Given the description of an element on the screen output the (x, y) to click on. 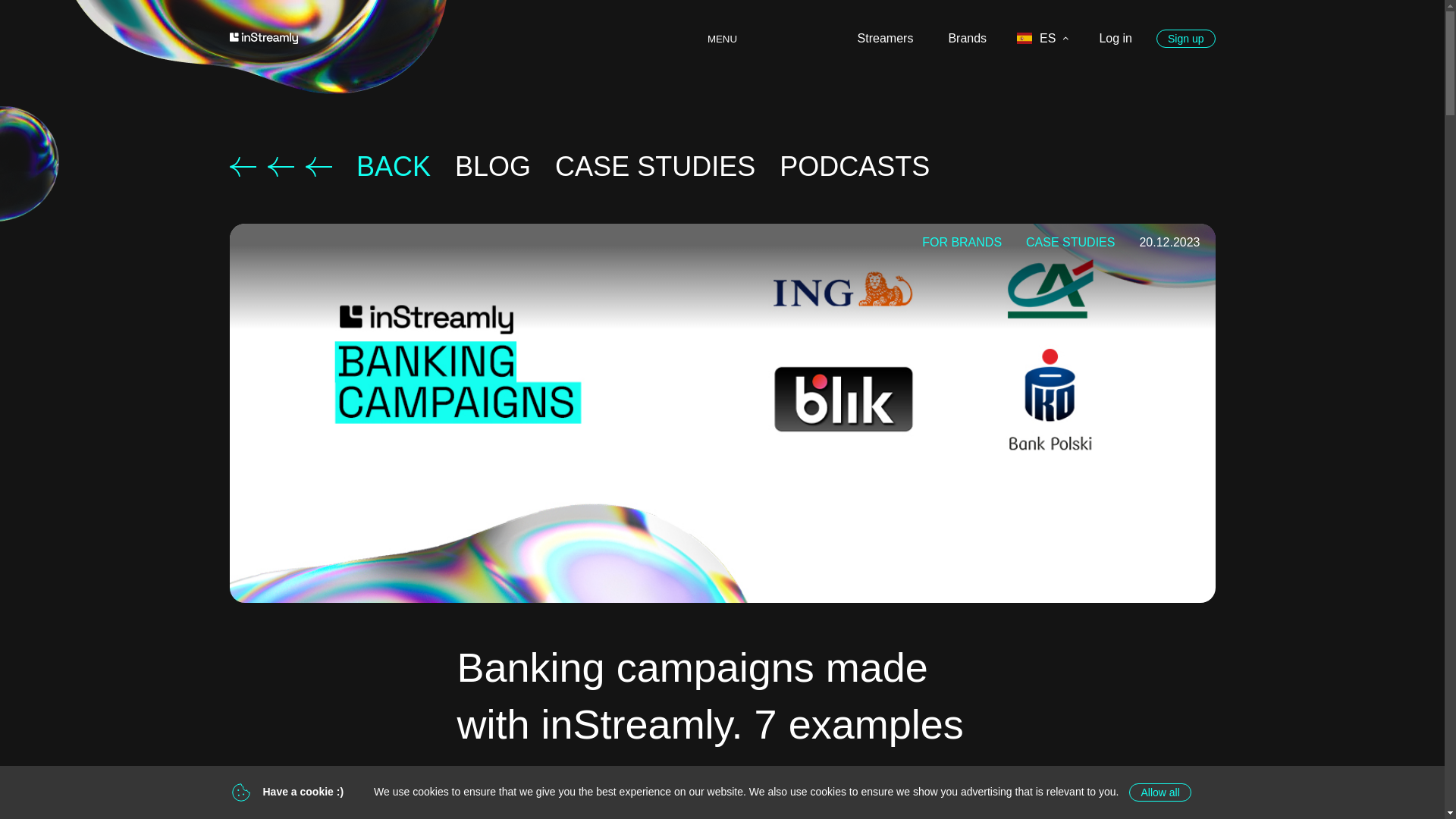
Sign up (1185, 37)
BLOG (492, 166)
Sign up (1185, 38)
CASE STUDIES (654, 166)
Log in (1114, 37)
PODCASTS (854, 166)
Streamers (885, 37)
MENU (722, 38)
Brands (967, 37)
